Given the description of an element on the screen output the (x, y) to click on. 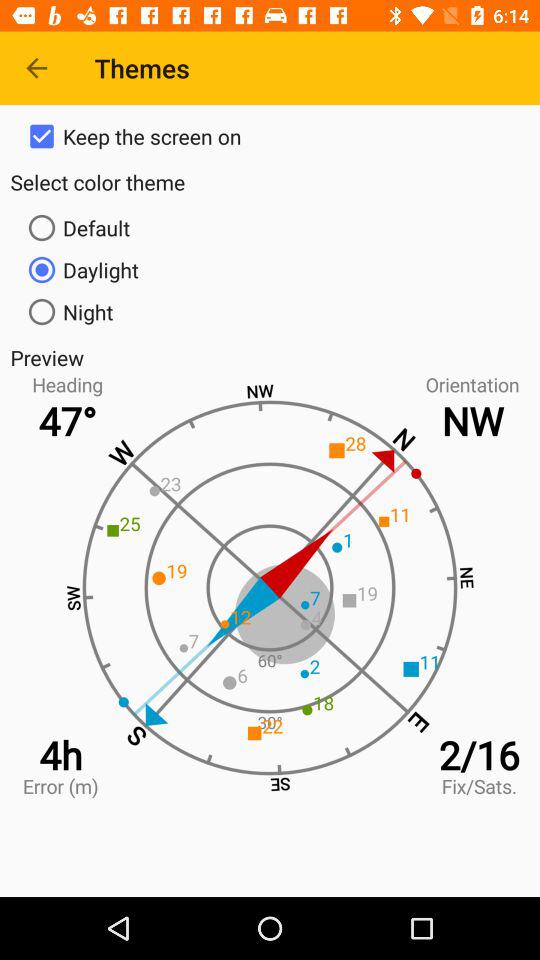
launch item to the left of the themes (36, 68)
